Given the description of an element on the screen output the (x, y) to click on. 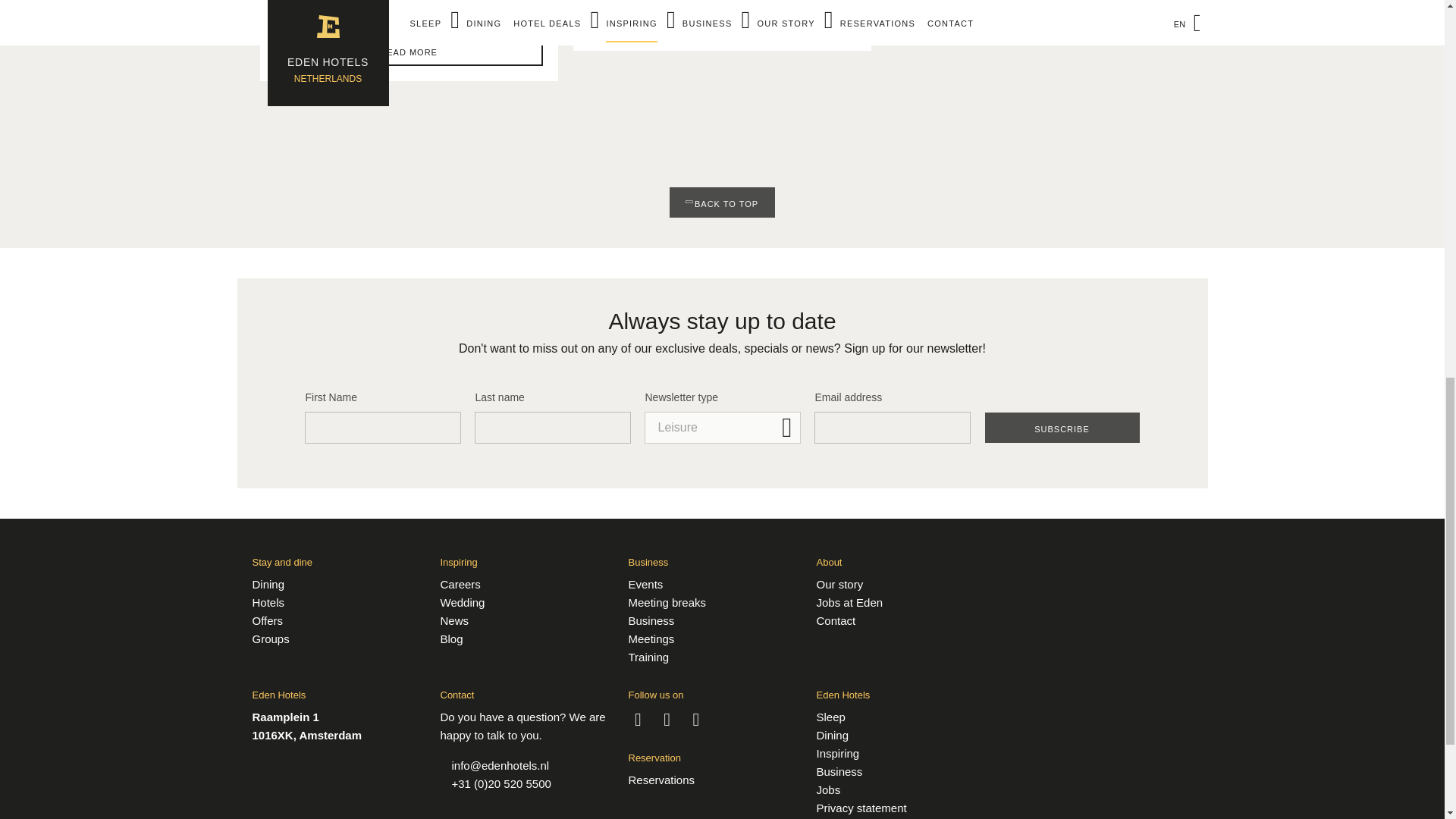
BACK TO TOP (721, 202)
Instagram (667, 718)
LinkedIn (637, 718)
Pinterest (695, 718)
